Given the description of an element on the screen output the (x, y) to click on. 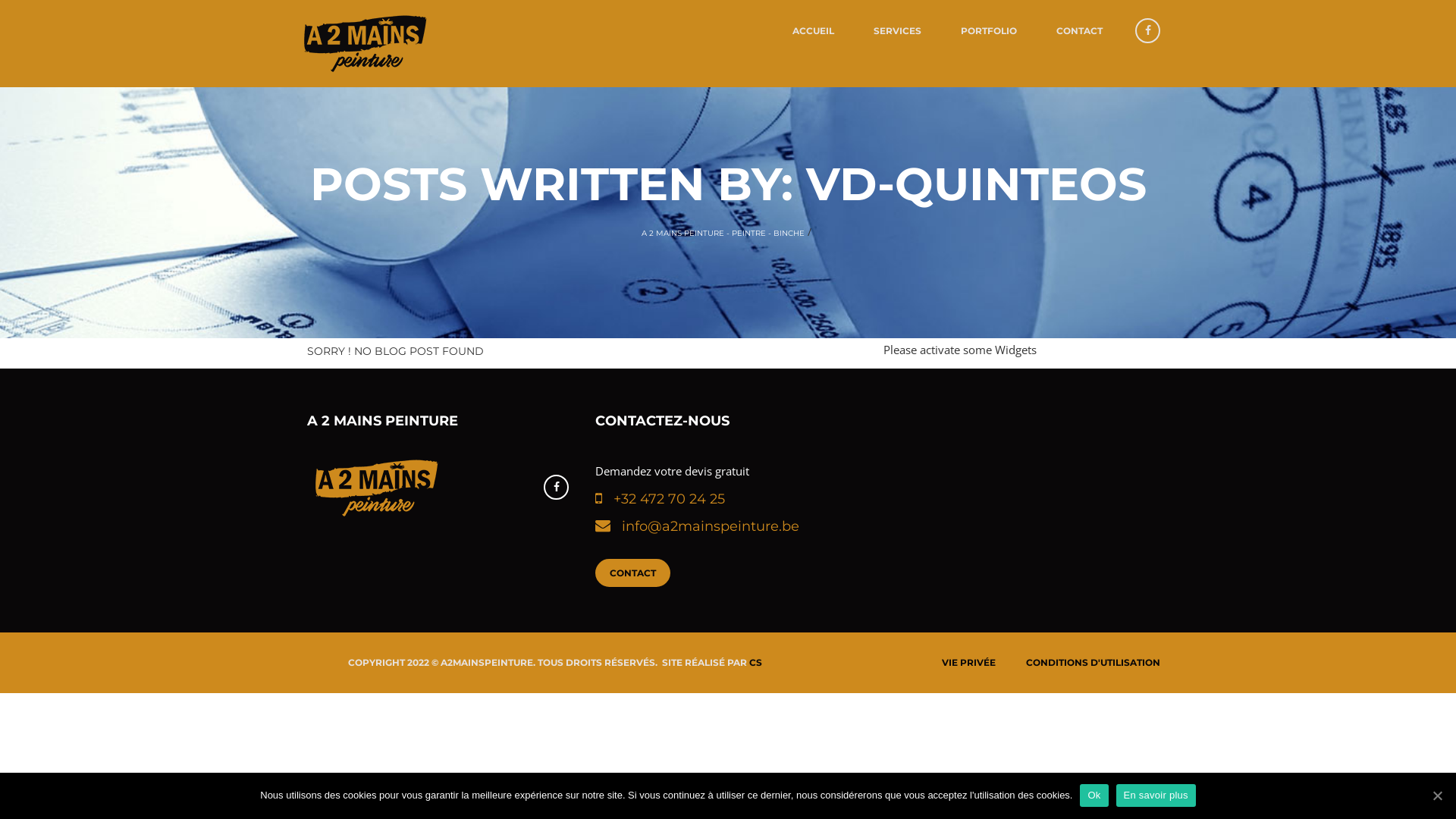
En savoir plus Element type: text (1155, 795)
+32 472 70 24 25 Element type: text (663, 499)
SERVICES Element type: text (897, 30)
Ok Element type: text (1093, 795)
ACCUEIL Element type: text (813, 30)
CONTACT Element type: text (632, 572)
PORTFOLIO Element type: text (988, 30)
info@a2mainspeinture.be Element type: text (704, 527)
CONTACT Element type: text (1079, 30)
CS Element type: text (755, 662)
A 2 MAINS PEINTURE - PEINTRE - BINCHE Element type: text (722, 233)
CONDITIONS D'UTILISATION Element type: text (1093, 662)
